Given the description of an element on the screen output the (x, y) to click on. 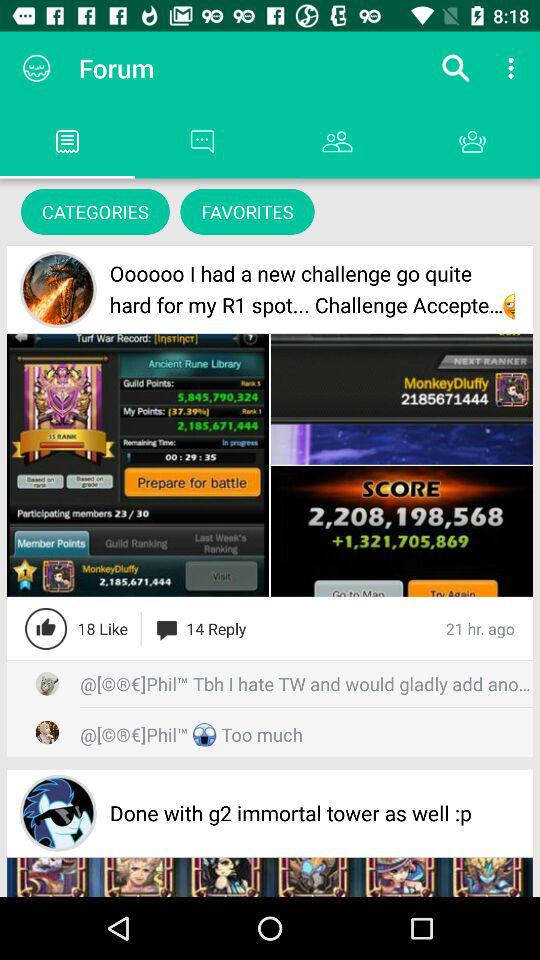
press item next to forum (36, 68)
